Given the description of an element on the screen output the (x, y) to click on. 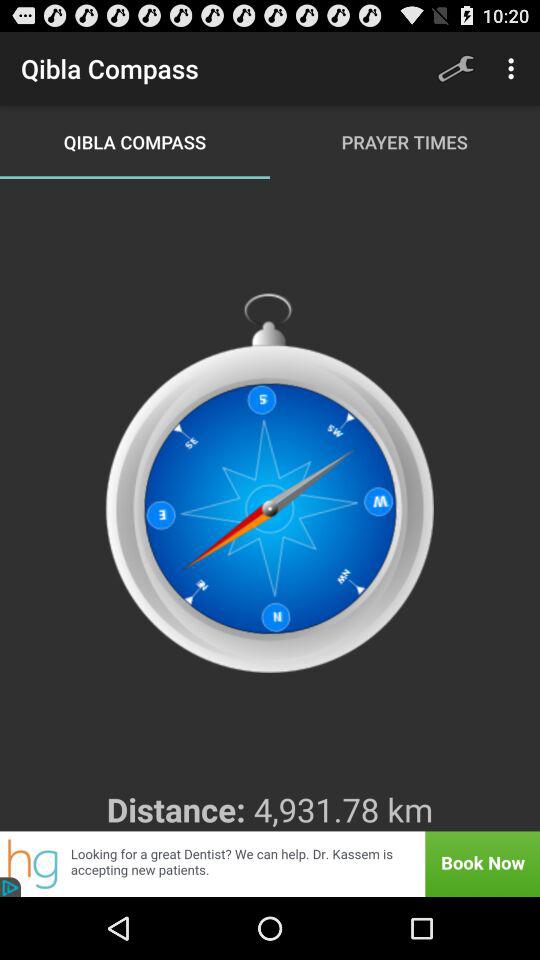
tap the item below distance: app (270, 863)
